Given the description of an element on the screen output the (x, y) to click on. 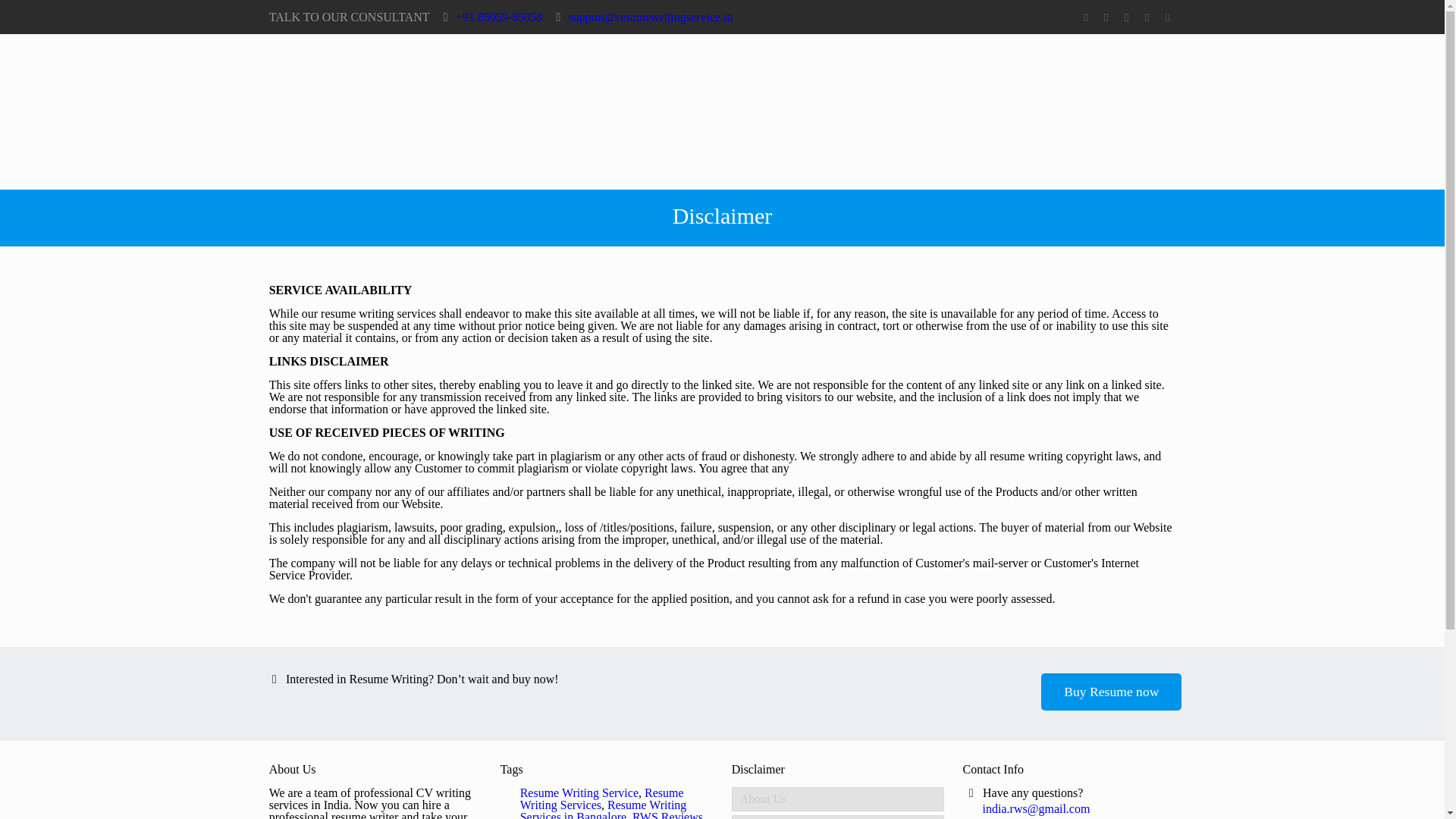
Twitter (1105, 17)
Resume Writing Services (601, 798)
Instagram (1166, 17)
Buy Resume now (1110, 691)
Pinterest (1146, 17)
LinkedIn (1126, 17)
Resume Writing Services in Bangalore (603, 808)
Facebook (1085, 17)
Resume Writing Service (579, 792)
RWS Reviews (667, 814)
